Given the description of an element on the screen output the (x, y) to click on. 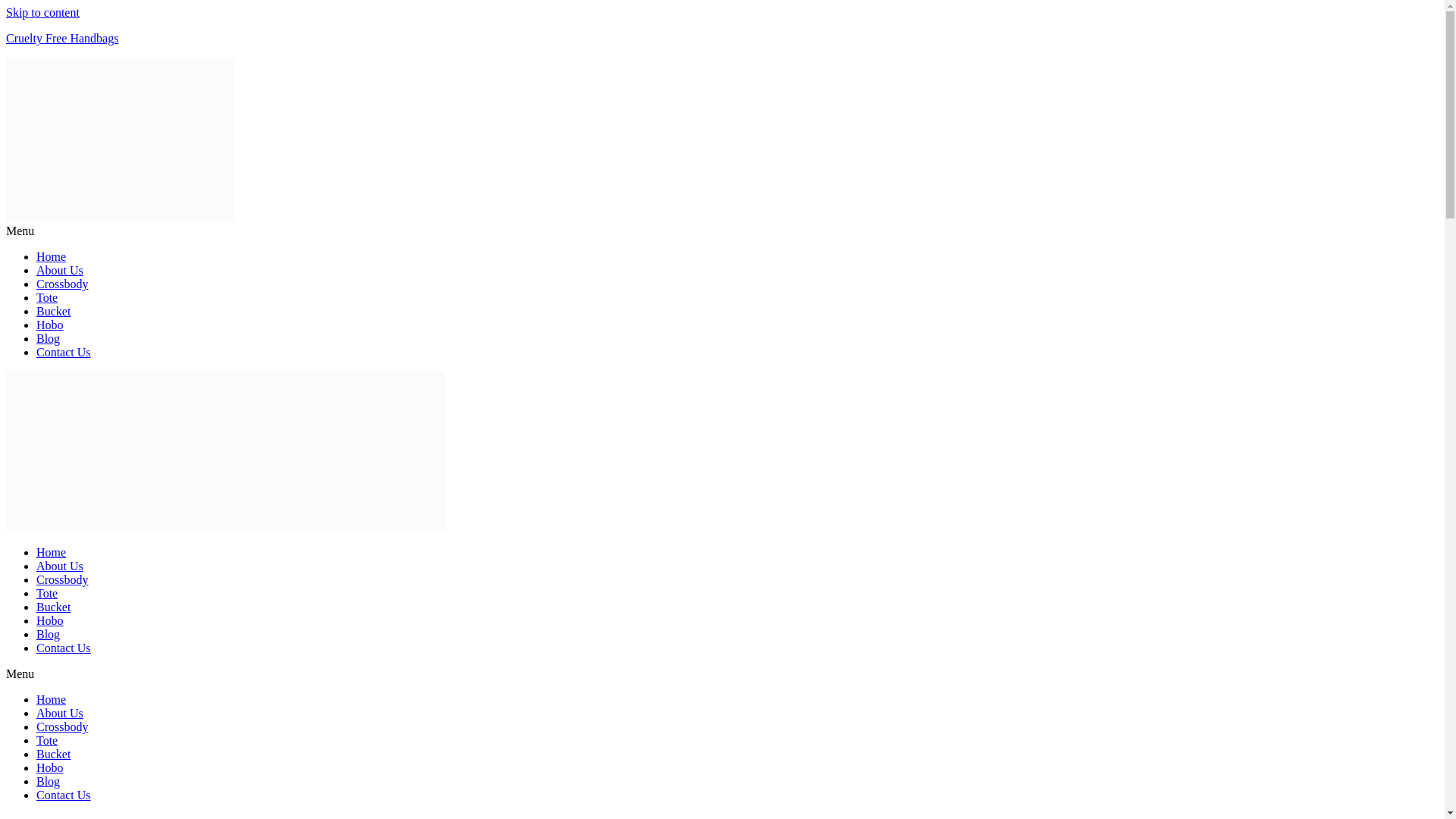
Tote (47, 297)
Home (50, 698)
Crossbody (61, 283)
Blog (47, 338)
Bucket (52, 606)
Blog (47, 634)
Blog (47, 780)
Bucket (52, 310)
About Us (59, 269)
Skip to content (42, 11)
